Given the description of an element on the screen output the (x, y) to click on. 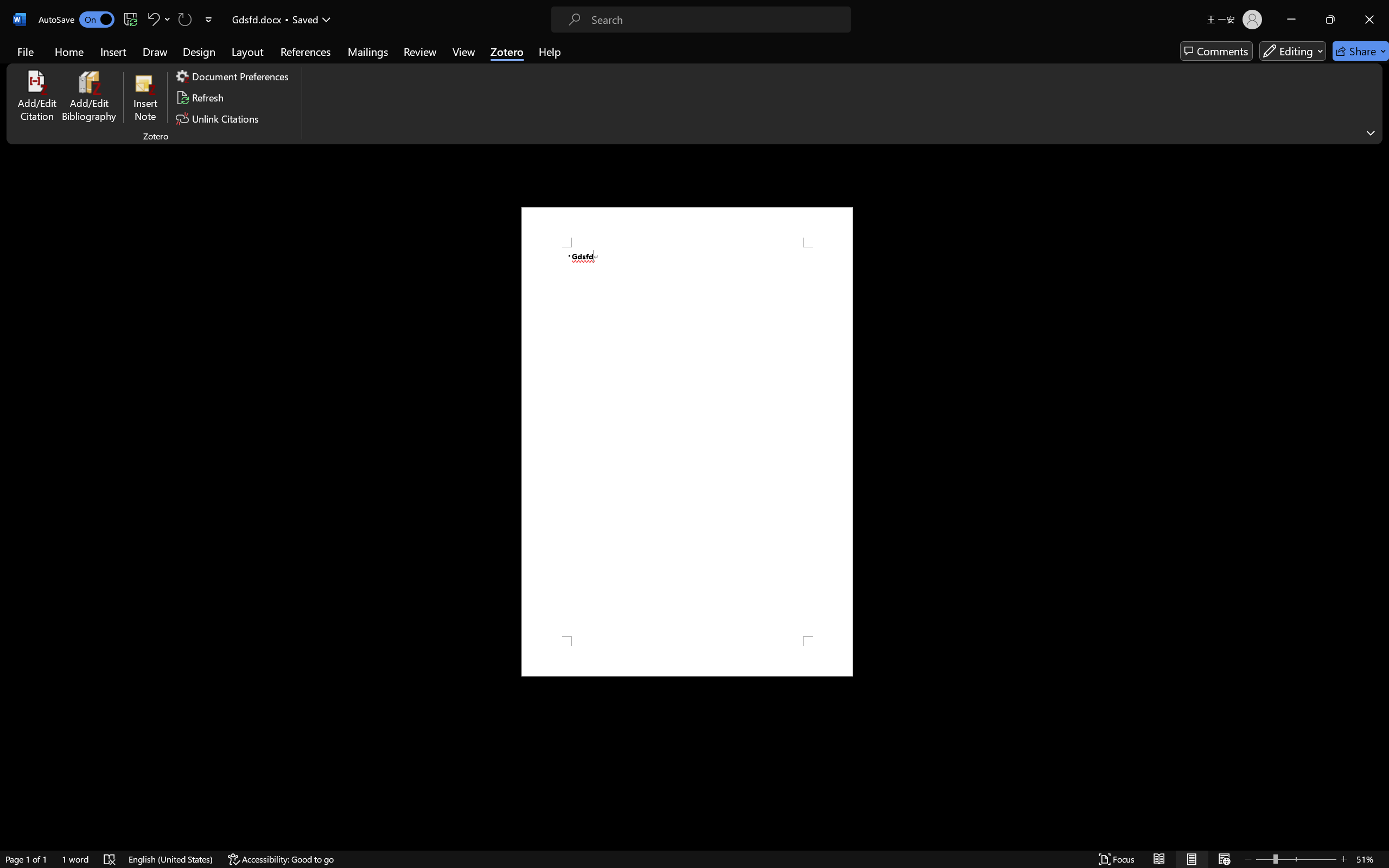
Page 1 content (686, 441)
